Given the description of an element on the screen output the (x, y) to click on. 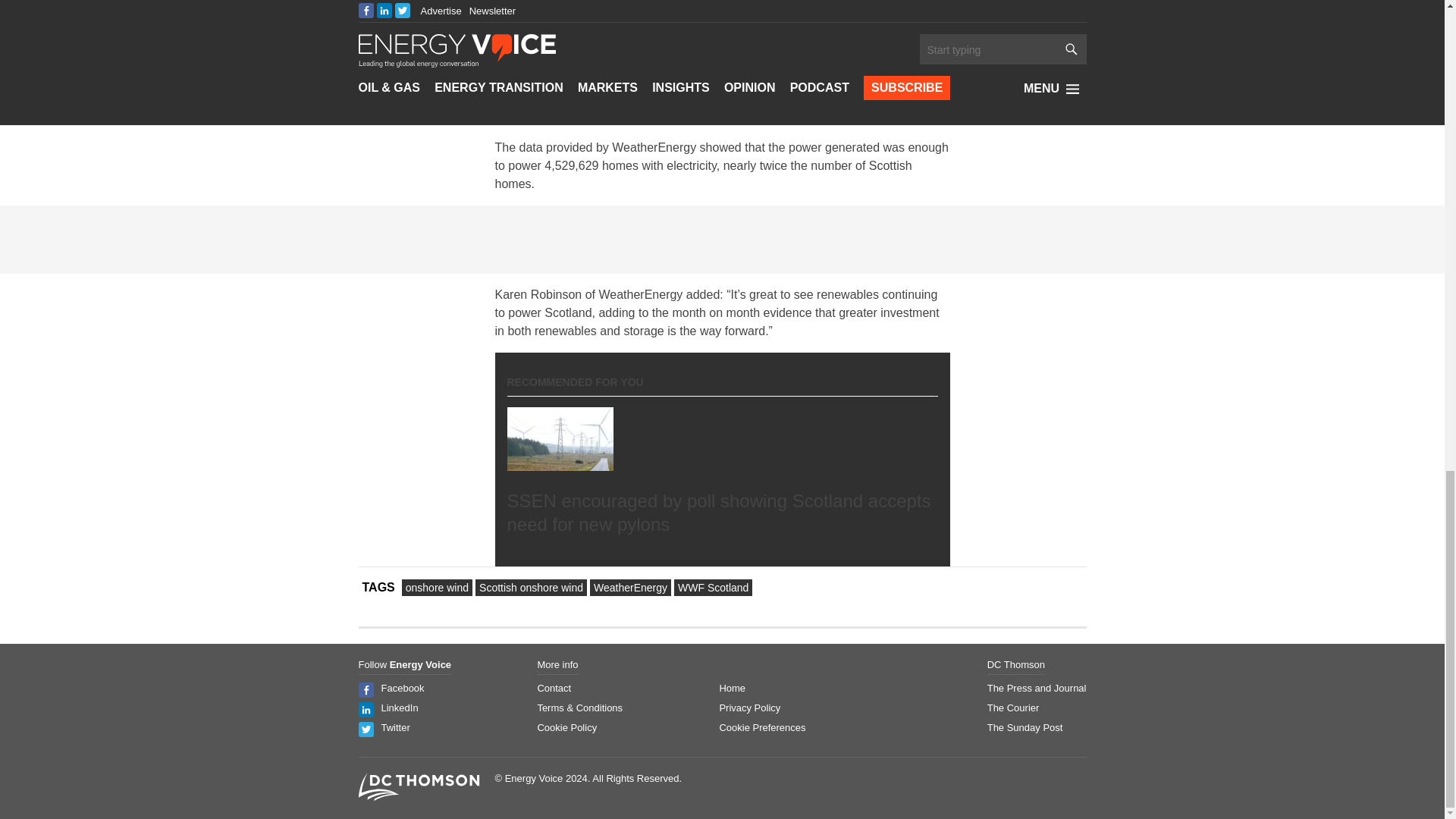
LinkedIn (398, 707)
Facebook (401, 687)
Twitter (394, 727)
